Given the description of an element on the screen output the (x, y) to click on. 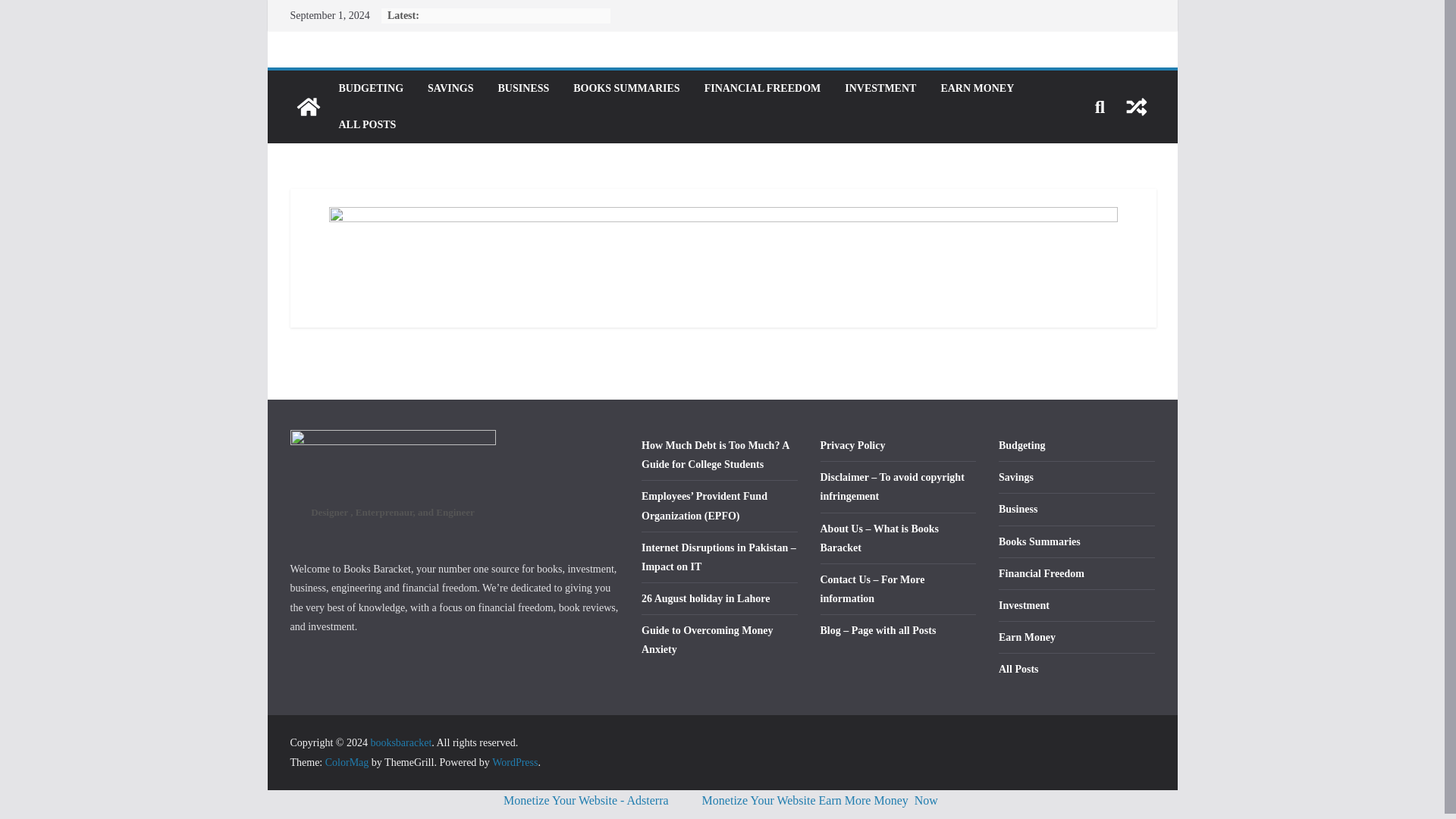
WordPress (514, 762)
How Much Debt is Too Much? A Guide for College Students (715, 454)
Budgeting (1021, 445)
Savings (1015, 477)
ALL POSTS (366, 124)
View a random post (1136, 106)
ColorMag (346, 762)
Books Summaries (1039, 541)
Earn Money (1026, 636)
ColorMag (346, 762)
